Given the description of an element on the screen output the (x, y) to click on. 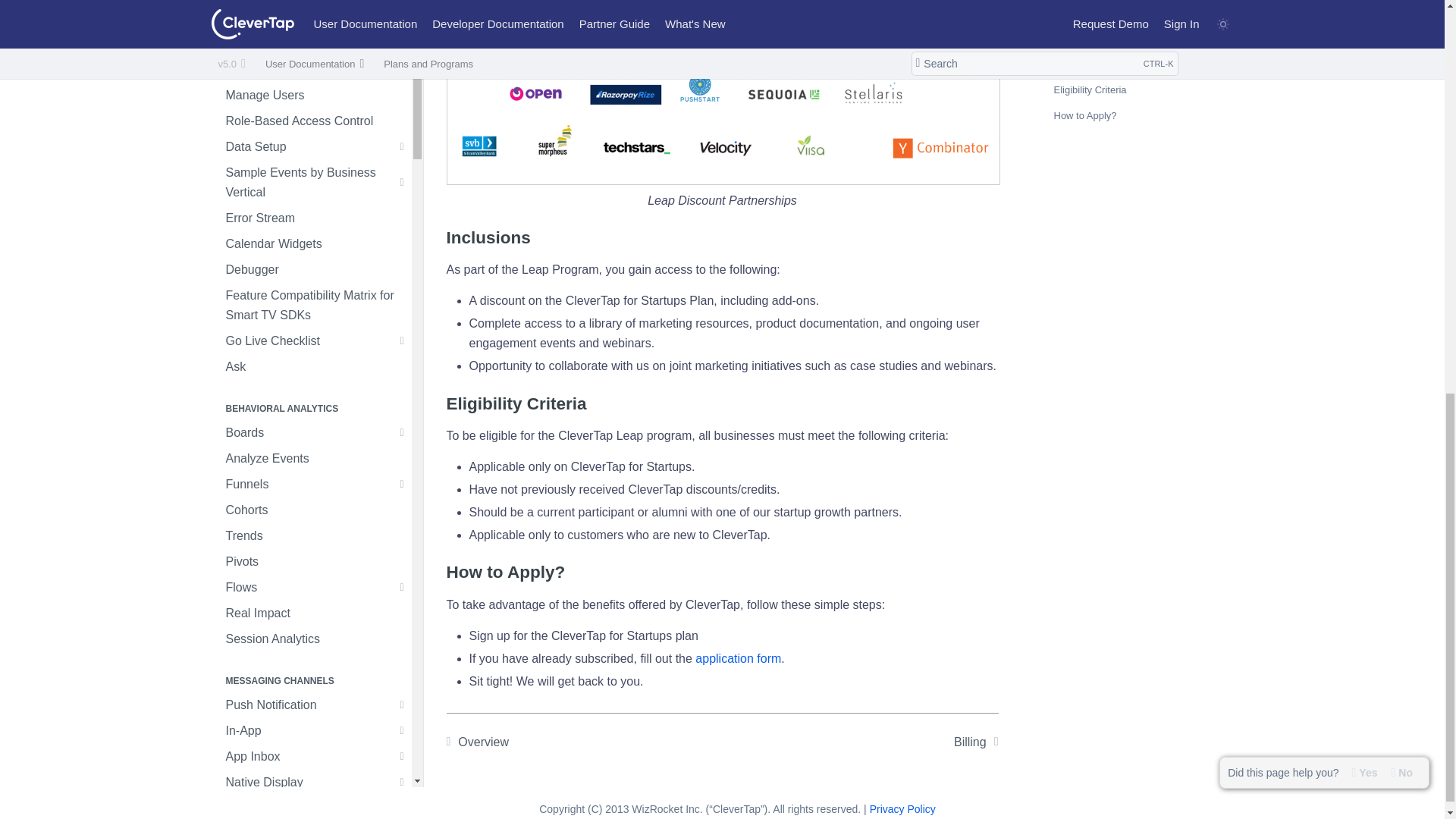
Inclusions (721, 237)
How to Apply? (721, 572)
Eligibility Criteria (721, 403)
